Given the description of an element on the screen output the (x, y) to click on. 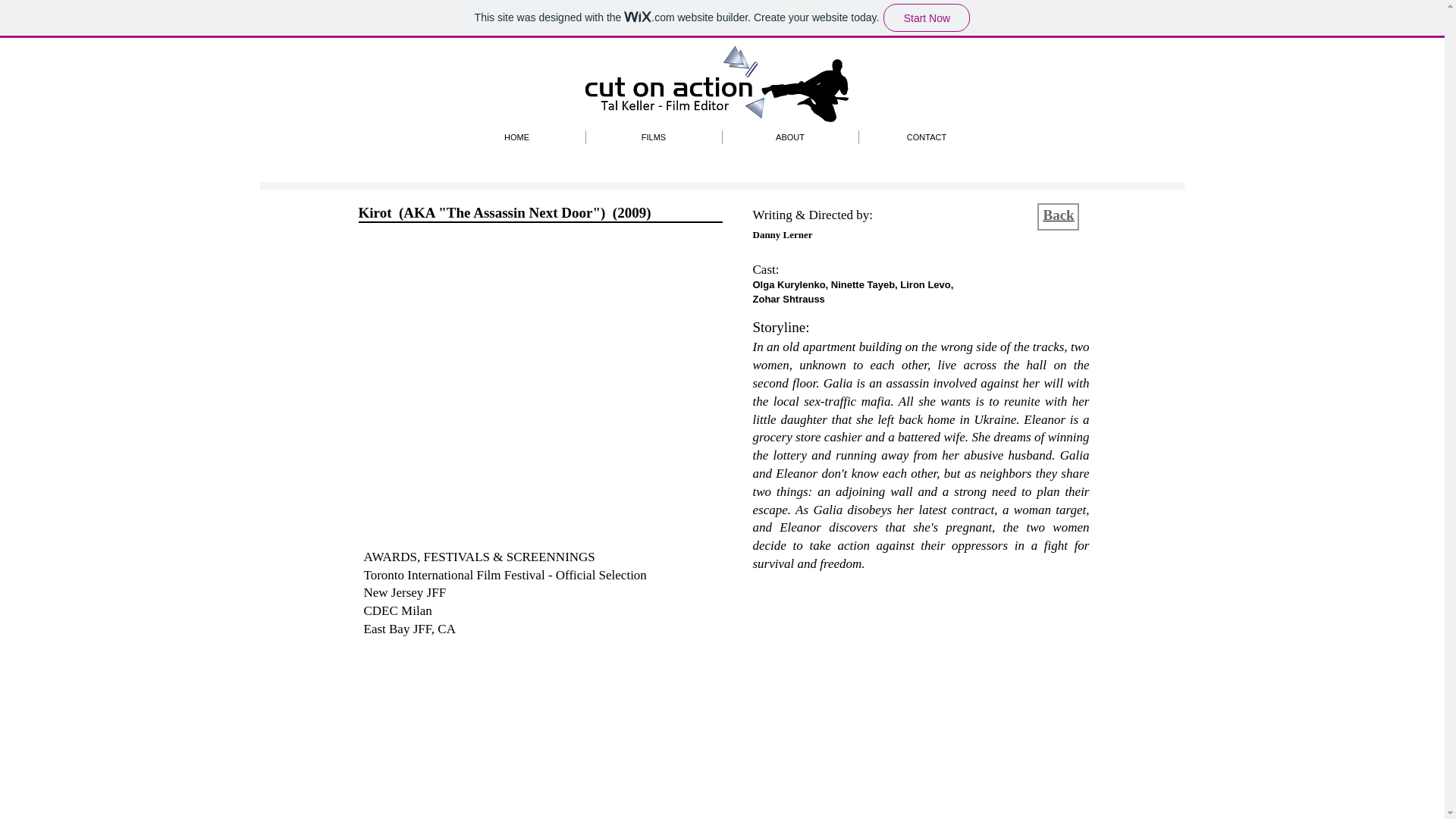
FILMS (652, 137)
Back (1058, 214)
External Vimeo (541, 399)
ABOUT (789, 137)
HOME (516, 137)
CONTACT (926, 137)
